Given the description of an element on the screen output the (x, y) to click on. 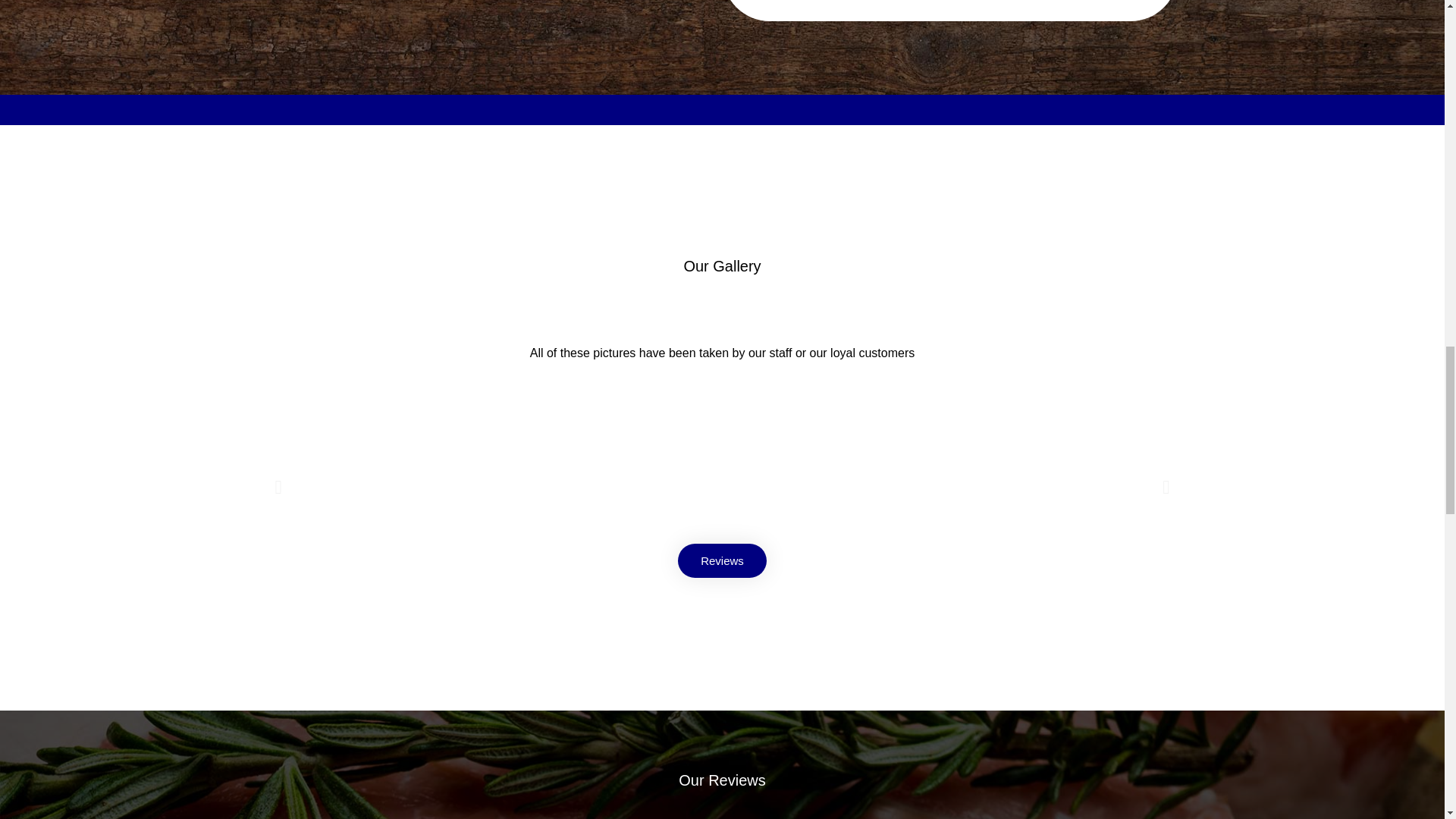
Reviews (722, 560)
Home 5 (415, 486)
Home 6 (721, 486)
Home 4 (1027, 486)
